Given the description of an element on the screen output the (x, y) to click on. 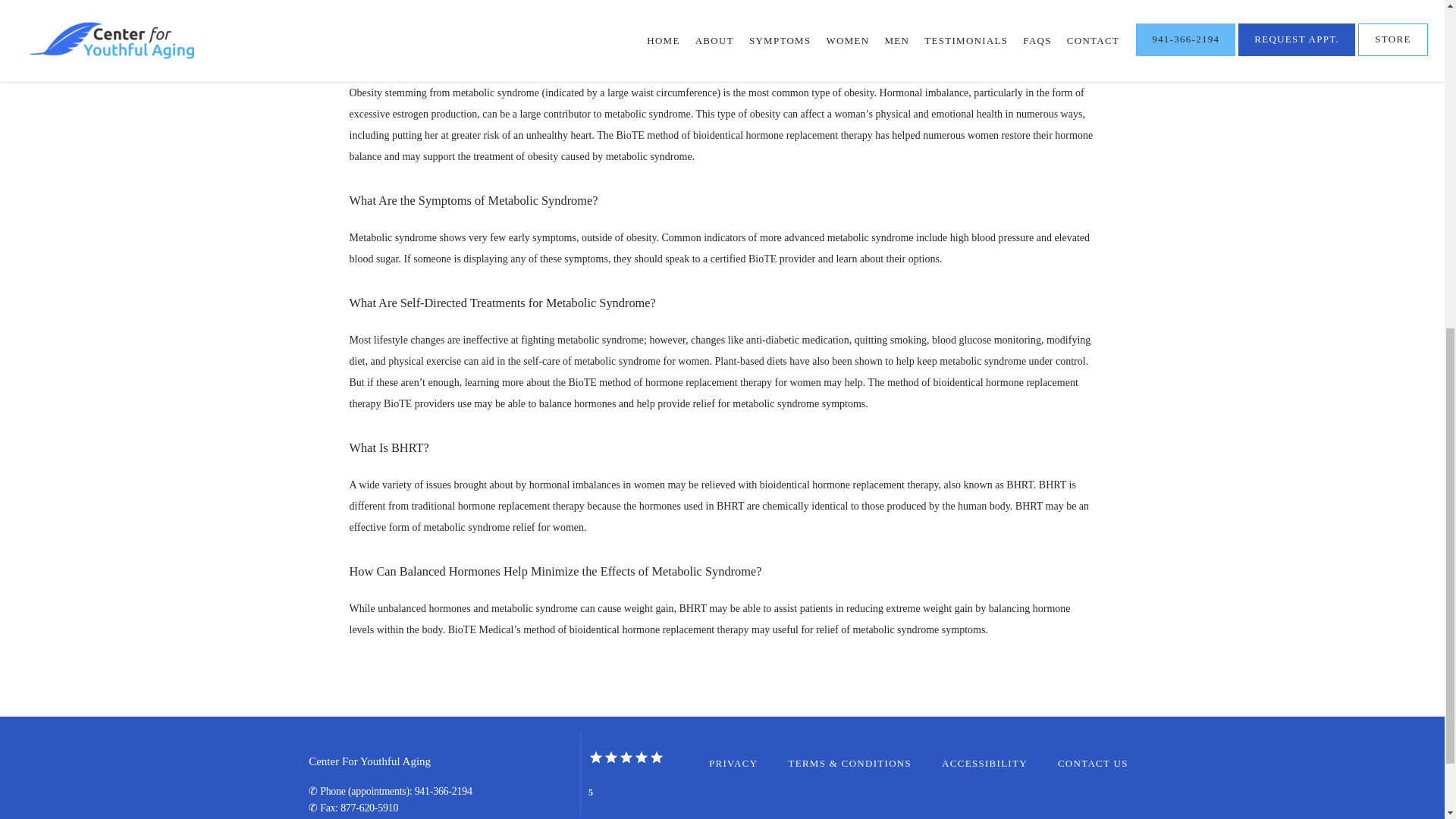
ACCESSIBILITY (984, 763)
PRIVACY (733, 763)
CONTACT US (1093, 763)
